Given the description of an element on the screen output the (x, y) to click on. 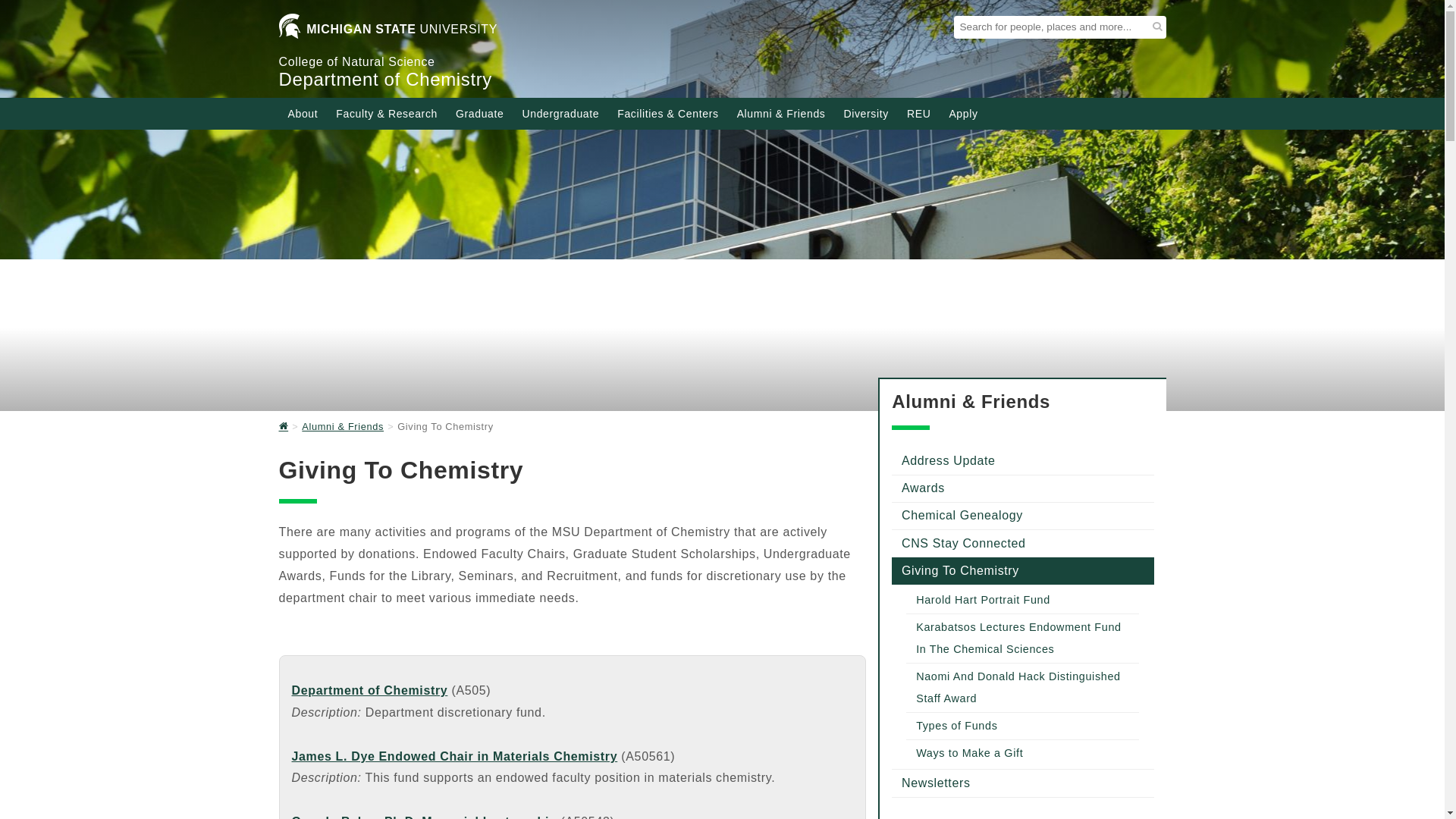
Undergraduate (560, 113)
College of Natural Science (357, 61)
MICHIGAN STATE UNIVERSITY (388, 32)
Graduate (479, 113)
Department of Chemistry (385, 78)
Site Name (385, 78)
About (303, 113)
